Given the description of an element on the screen output the (x, y) to click on. 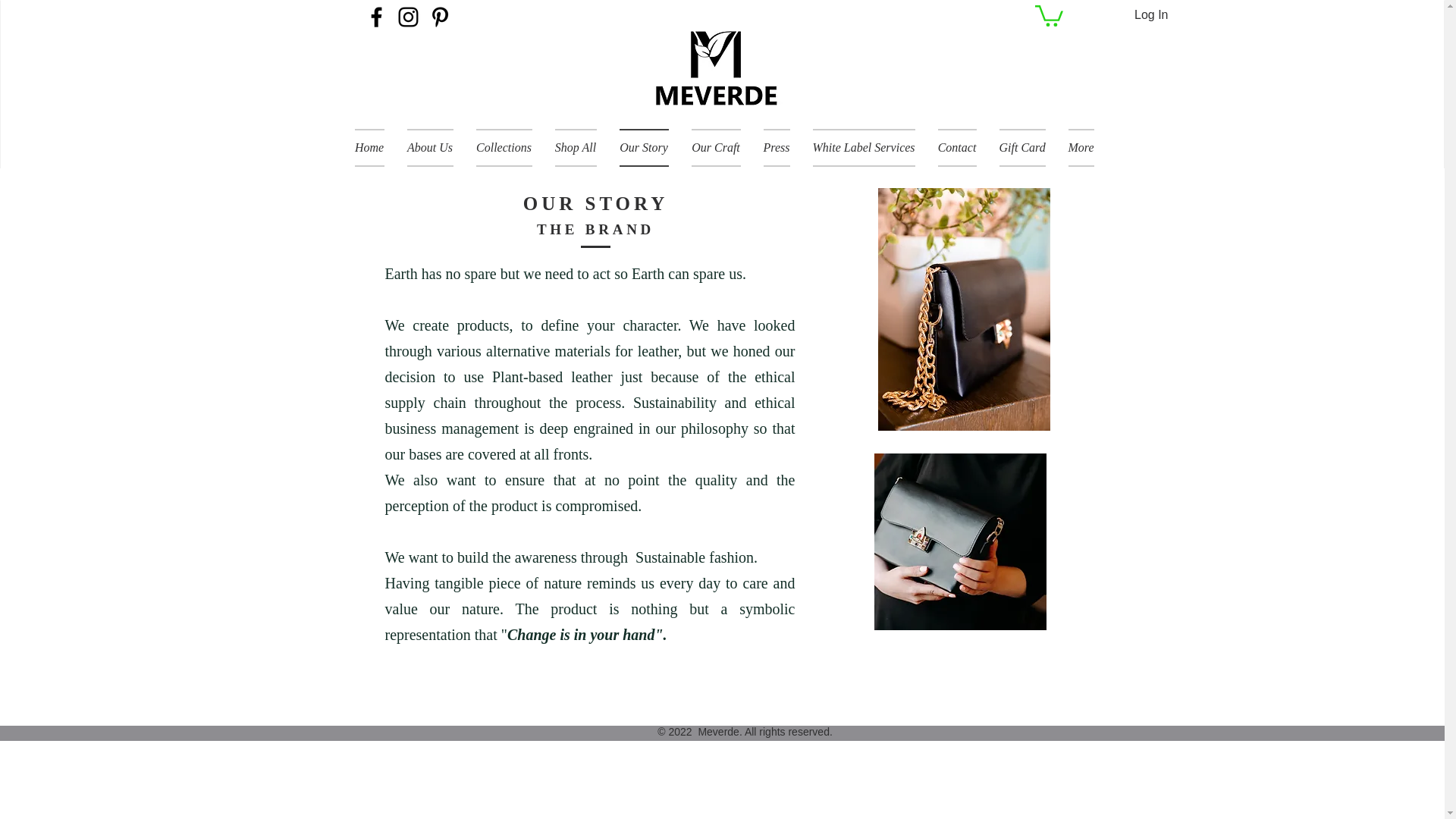
Shop All (575, 147)
Gift Card (1022, 147)
Home (375, 147)
Our Craft (715, 147)
Our Story (643, 147)
About Us (430, 147)
White Label Services (863, 147)
Press (777, 147)
Contact (957, 147)
Log In (1150, 14)
